Given the description of an element on the screen output the (x, y) to click on. 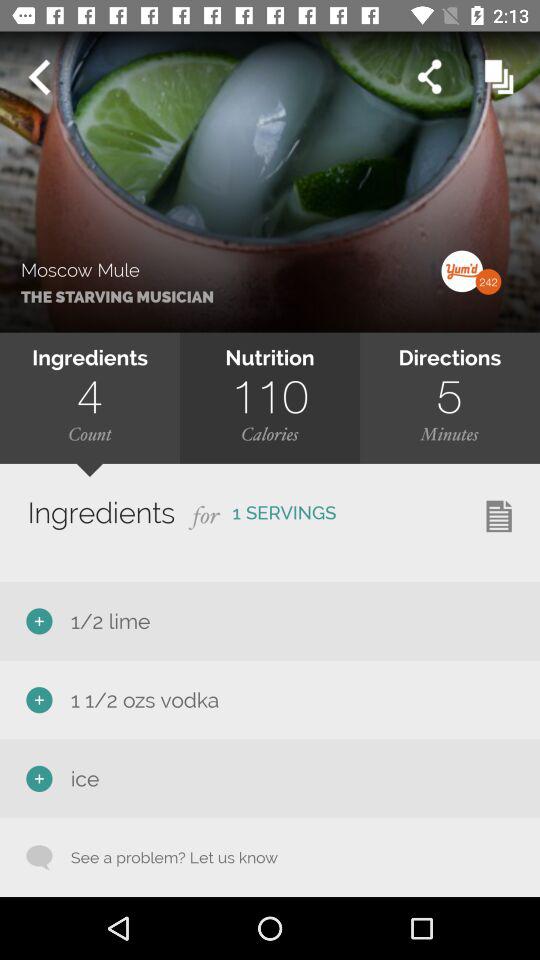
swipe until ice item (81, 778)
